Given the description of an element on the screen output the (x, y) to click on. 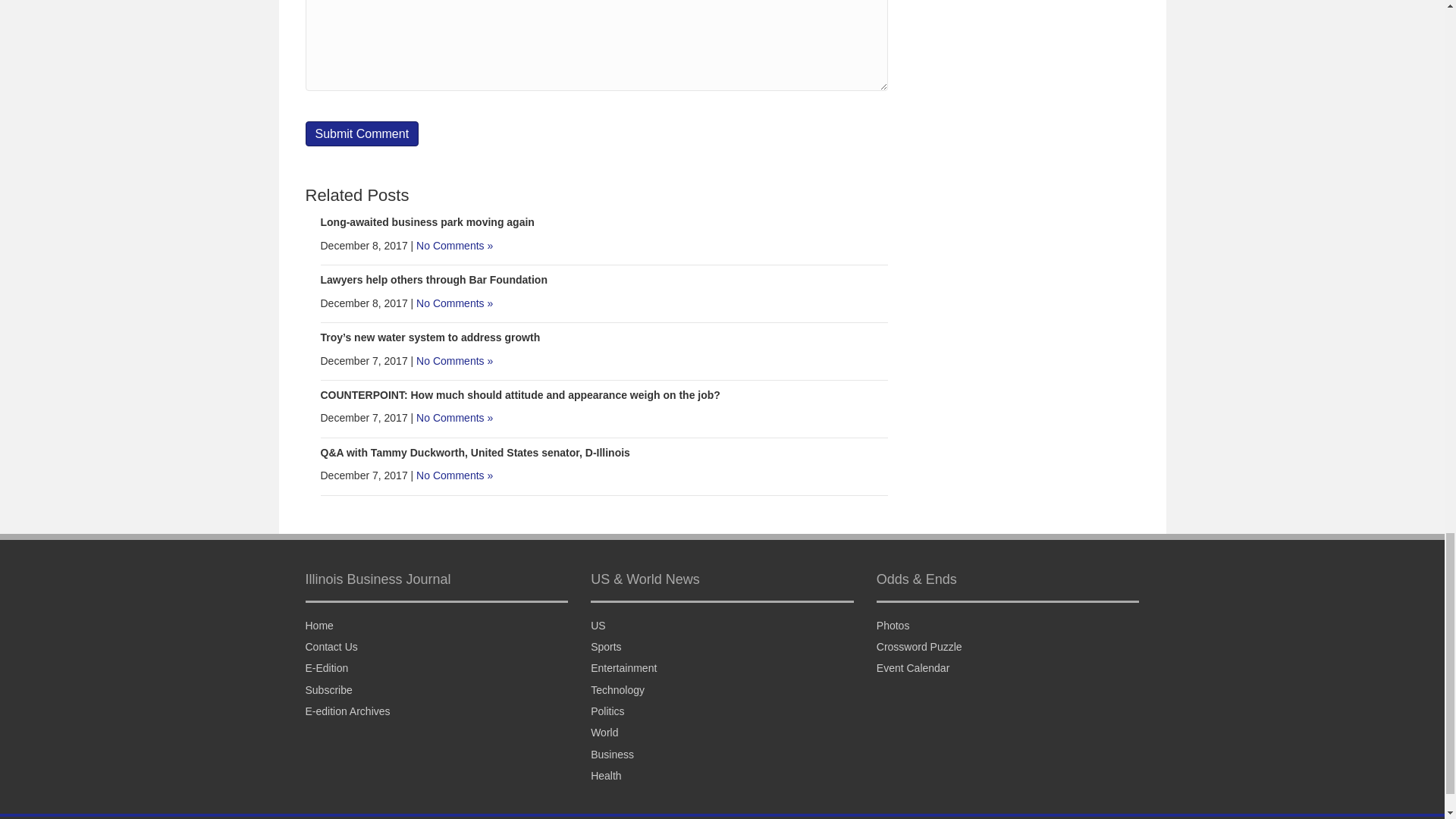
Lawyers help others through Bar Foundation (433, 279)
Long-awaited business park moving again (427, 222)
Submit Comment (361, 133)
Submit Comment (361, 133)
Long-awaited business park moving again (427, 222)
